Given the description of an element on the screen output the (x, y) to click on. 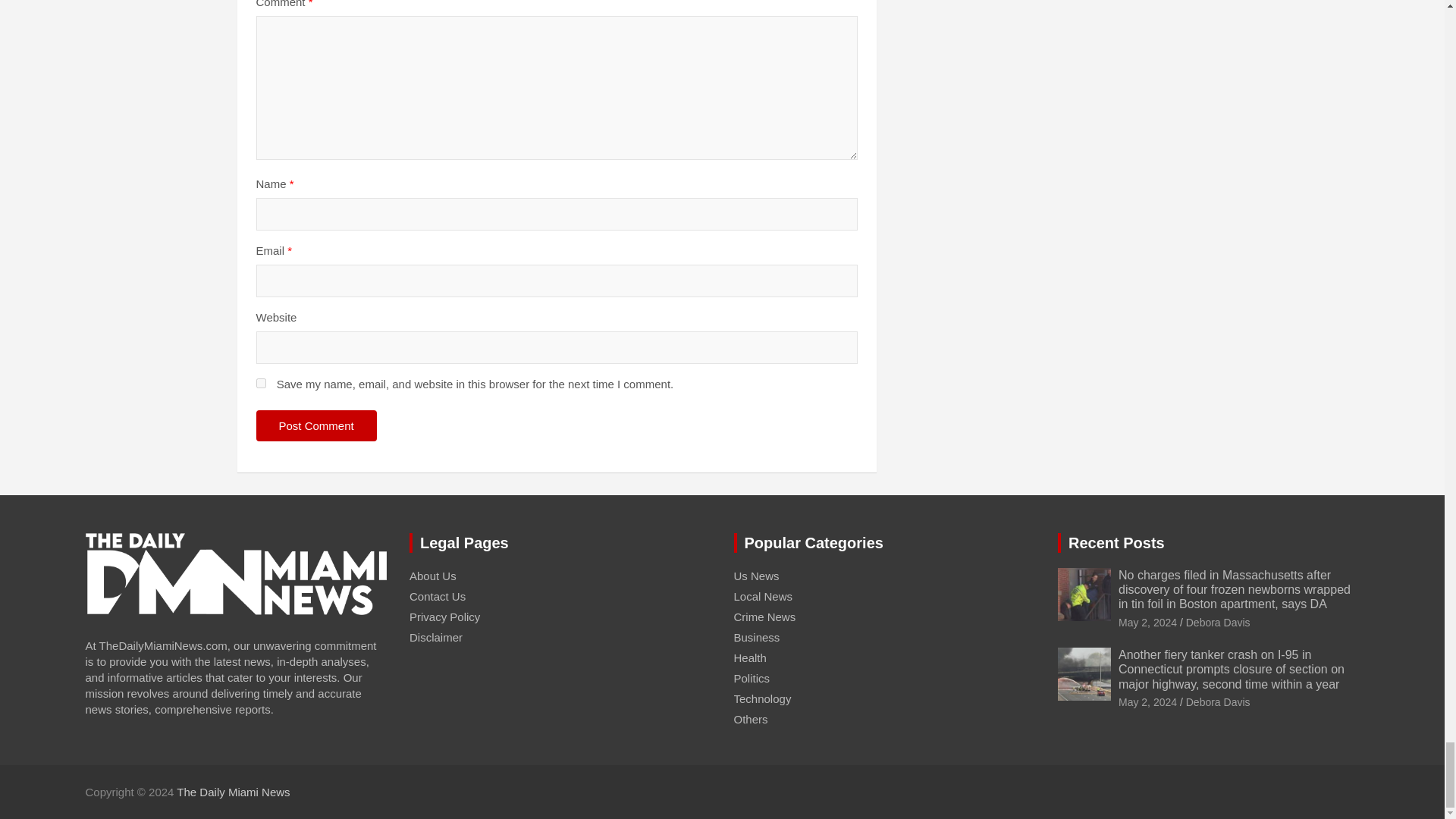
Post Comment (316, 425)
Post Comment (316, 425)
yes (261, 383)
The Daily Miami News (232, 791)
